Given the description of an element on the screen output the (x, y) to click on. 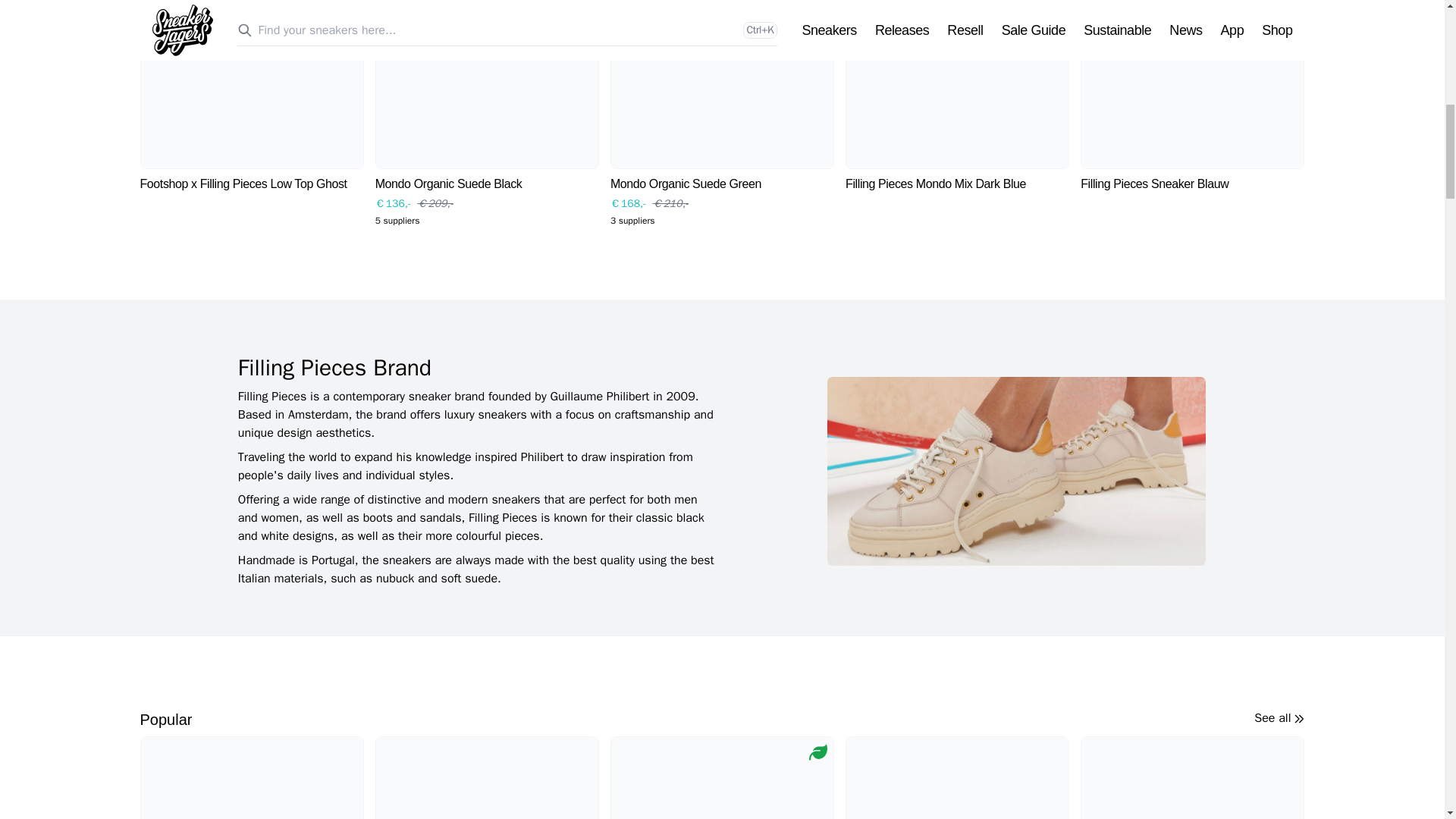
Filling Pieces Mondo Mix Dark Blue (956, 96)
Sustainable (817, 752)
See all (1278, 718)
Footshop x Filling Pieces Low Top Ghost (250, 96)
Filling Pieces Sneaker Blauw (1192, 96)
